Given the description of an element on the screen output the (x, y) to click on. 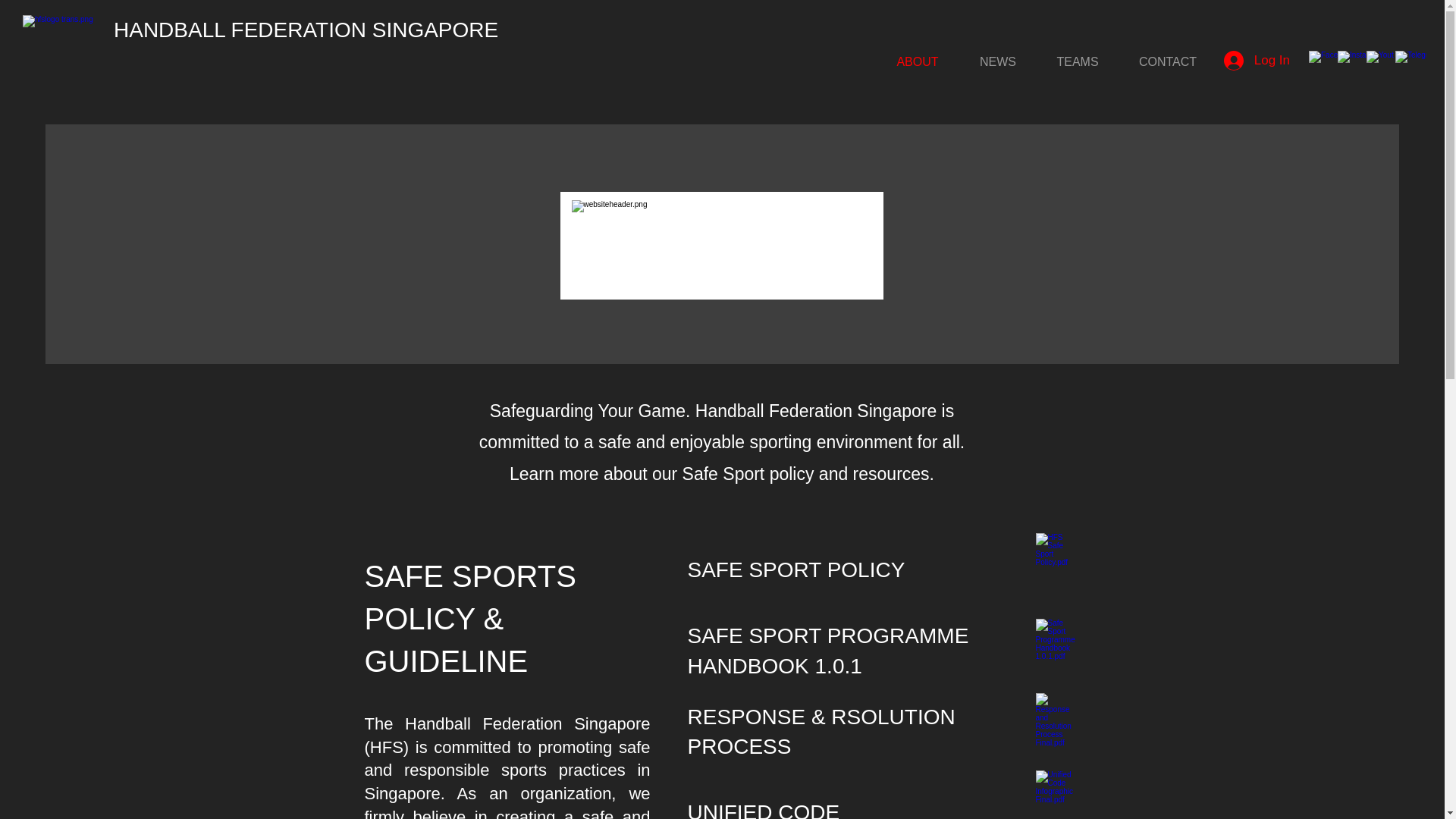
NEWS (997, 61)
Unified Code Infographic Final.pdf (1054, 794)
Safe Sport Programme Handbook 1.0.1.pdf (1054, 650)
TEAMS (1077, 61)
HFS logo clear background hd.png (69, 43)
CONTACT (1167, 61)
Response and Resolution Process Final.pdf (1054, 731)
Log In (1256, 60)
HFS Safe Sport Policy.pdf (1054, 569)
ABOUT (917, 61)
HANDBALL FEDERATION SINGAPORE (305, 30)
